Given the description of an element on the screen output the (x, y) to click on. 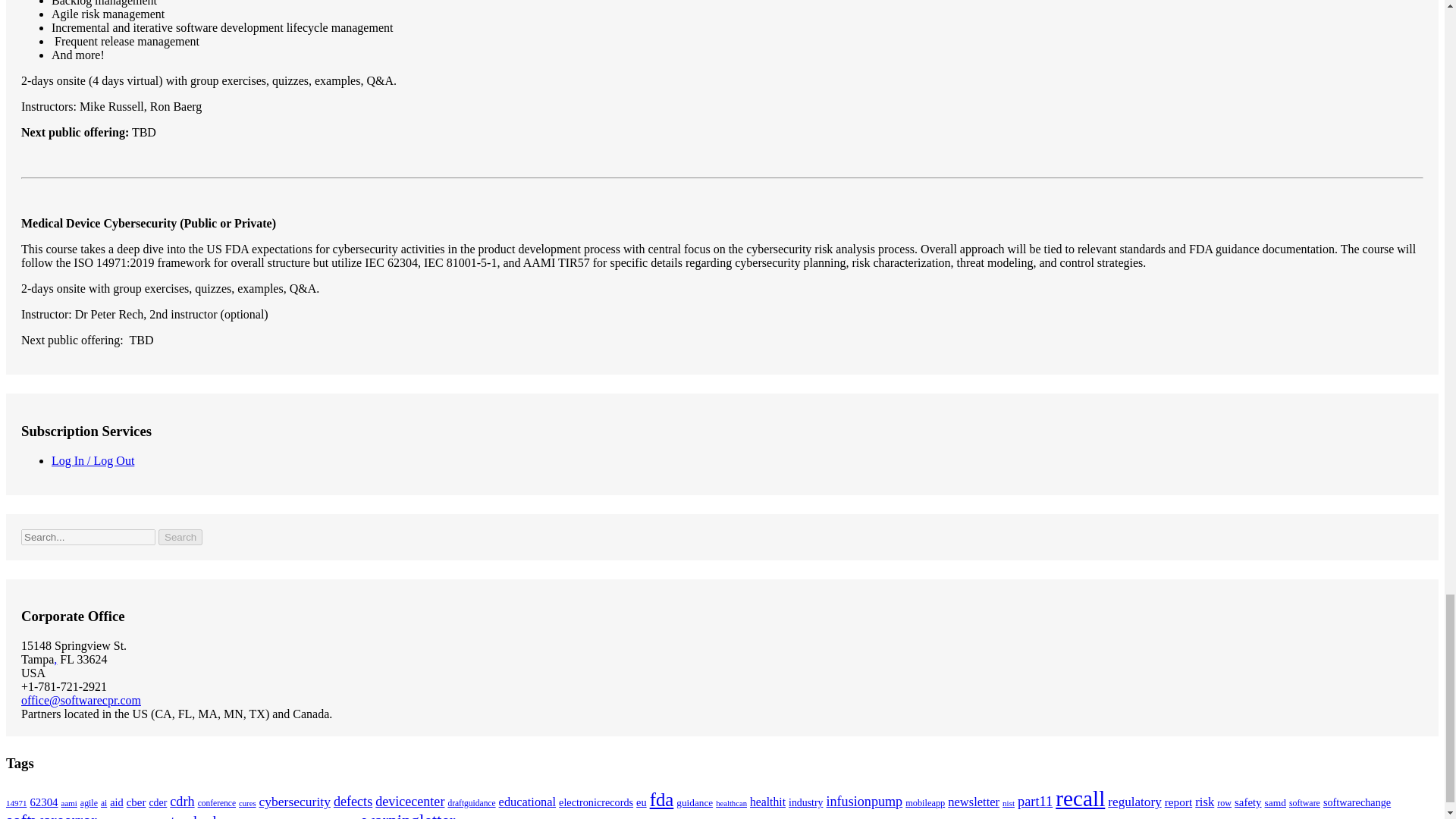
Search (180, 537)
Search (180, 537)
